Given the description of an element on the screen output the (x, y) to click on. 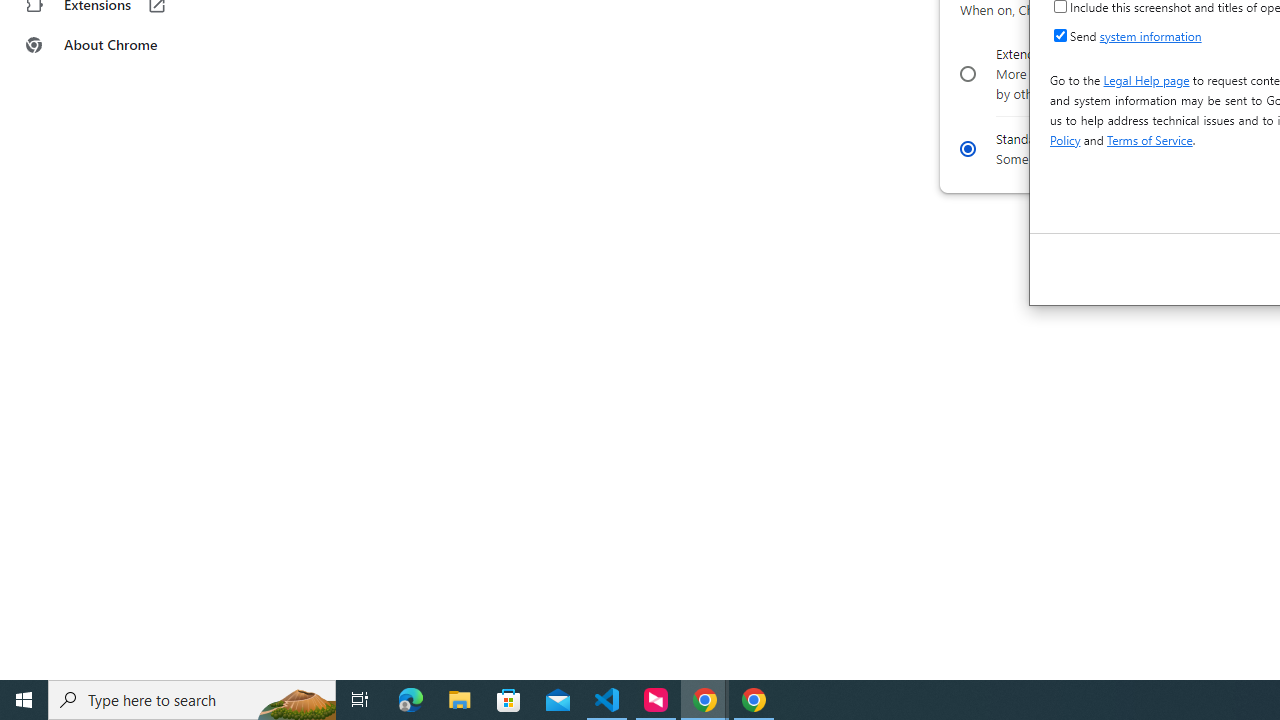
Start (24, 699)
Google Chrome - 1 running window (754, 699)
Microsoft Edge (411, 699)
Legal Help page (1146, 79)
Include this screenshot and titles of open tabs (1060, 6)
Standard preloading (966, 147)
system information (1150, 35)
Send system information (1060, 34)
Visual Studio Code - 1 running window (607, 699)
Search highlights icon opens search home window (295, 699)
Type here to search (191, 699)
Extended preloading (966, 74)
File Explorer (460, 699)
